Given the description of an element on the screen output the (x, y) to click on. 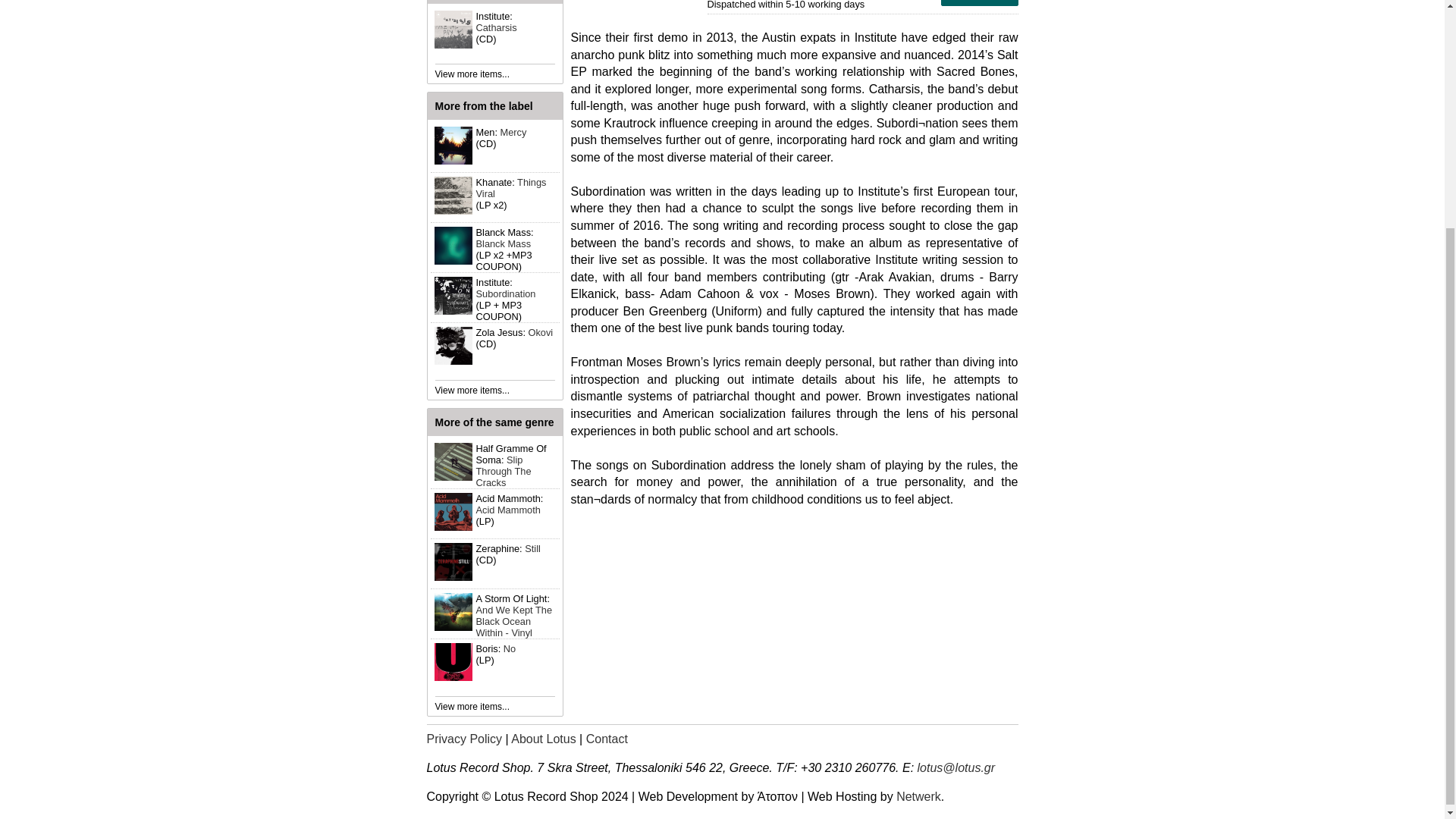
No (509, 648)
Acid Mammoth (508, 509)
View more items... (472, 73)
Contact (606, 738)
Okovi (540, 332)
Things Viral (511, 187)
Slip Through The Cracks (503, 471)
Blanck Mass (503, 243)
Catharsis (496, 27)
Netwerk (918, 796)
